Given the description of an element on the screen output the (x, y) to click on. 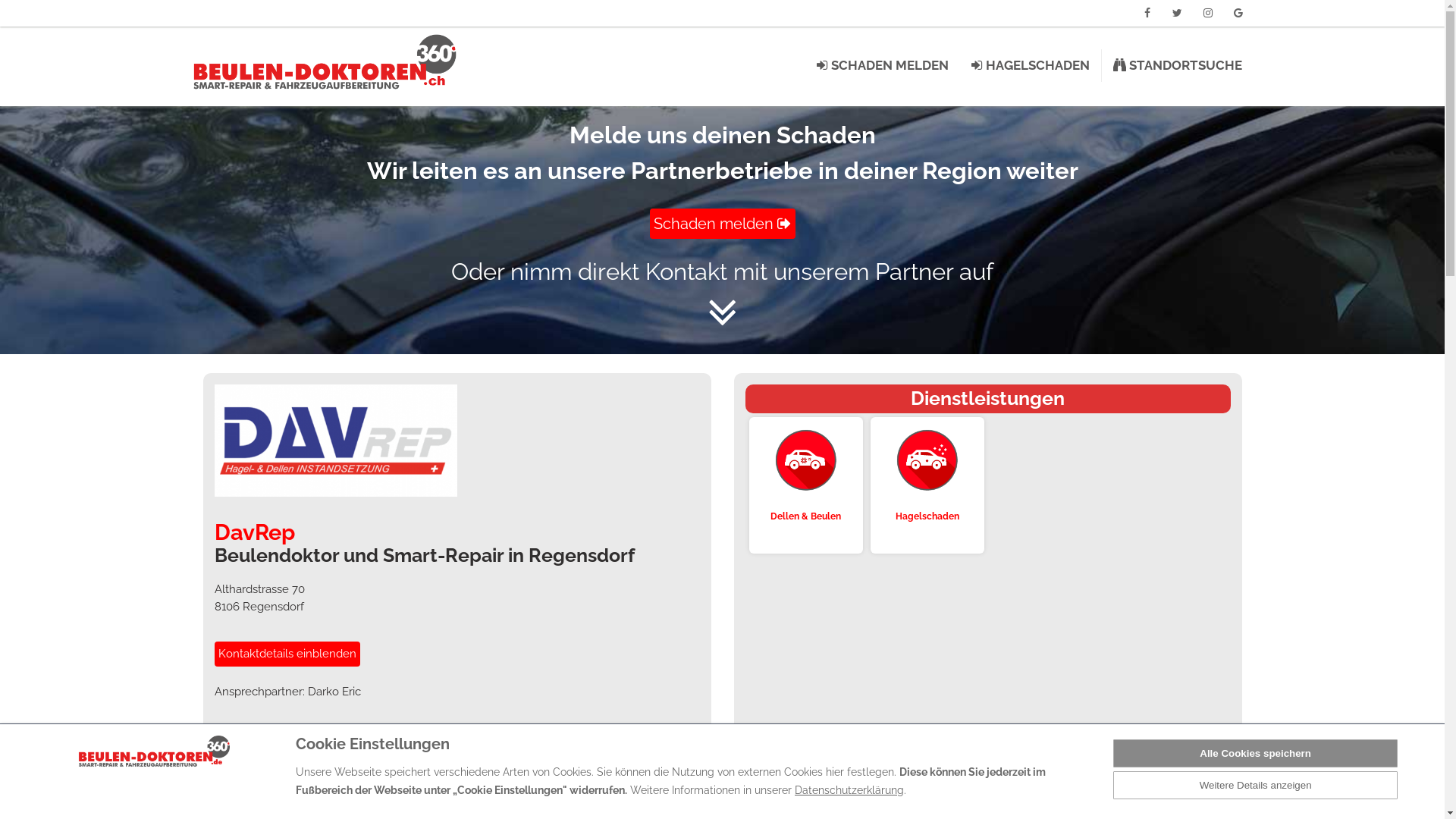
Alle Cookies speichern Element type: text (1255, 753)
HAGELSCHADEN Element type: text (1029, 64)
STANDORTSUCHE Element type: text (1177, 64)
Weitere Details anzeigen Element type: text (1255, 785)
SCHADEN MELDEN Element type: text (881, 64)
Schaden melden Element type: text (721, 223)
